Given the description of an element on the screen output the (x, y) to click on. 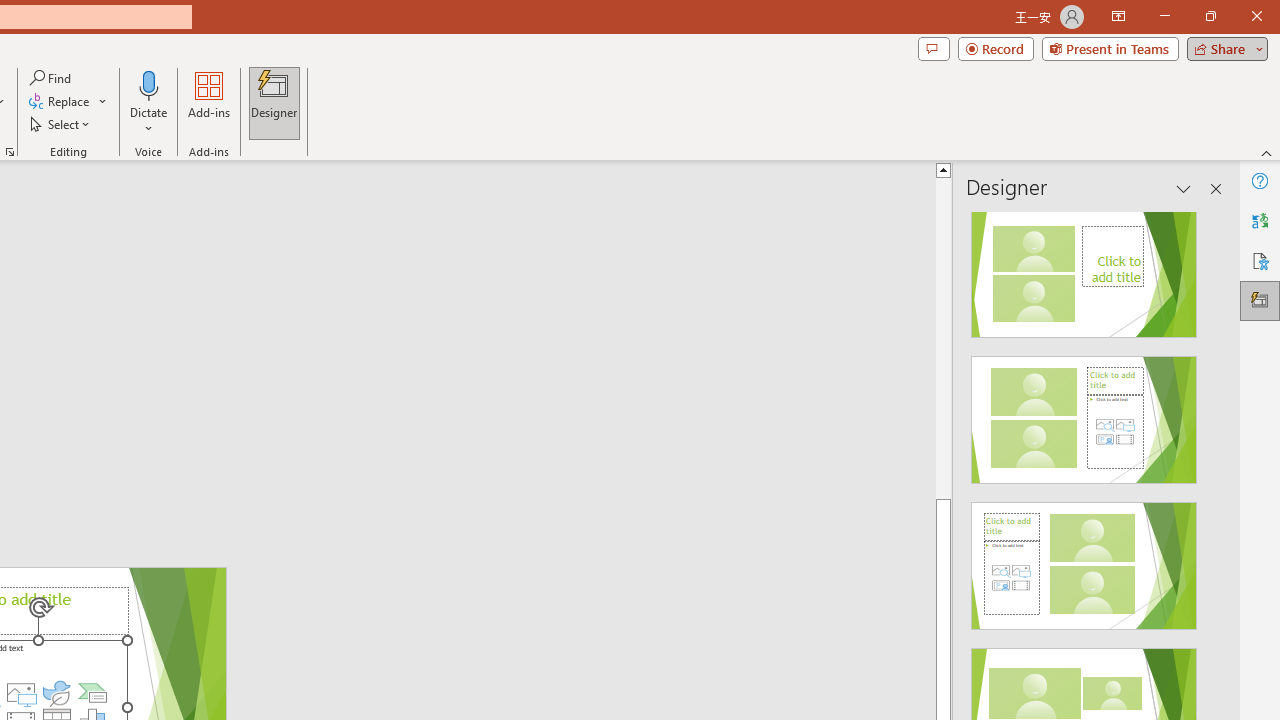
Insert an Icon (56, 692)
